Given the description of an element on the screen output the (x, y) to click on. 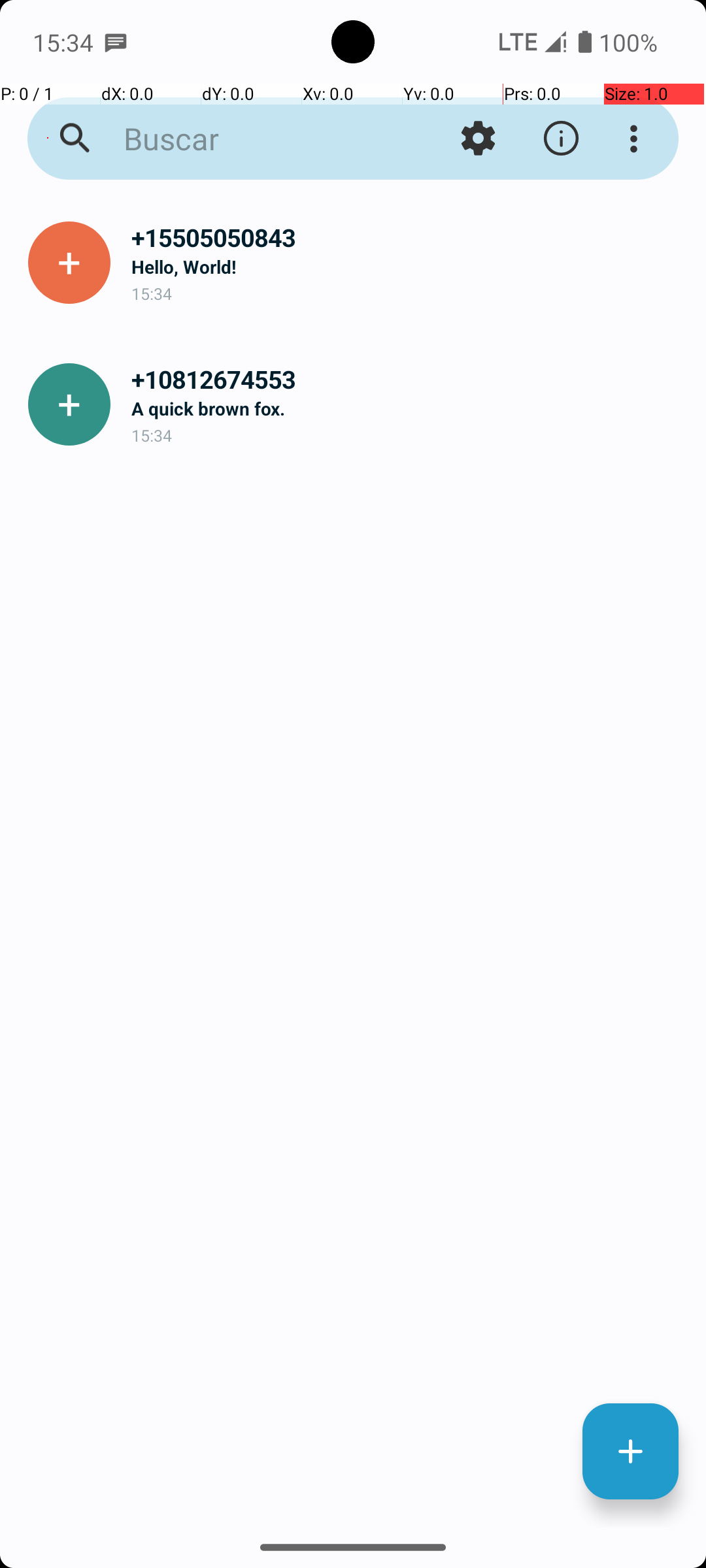
Acerca de Element type: android.widget.Button (560, 138)
+15505050843 Element type: android.widget.TextView (408, 237)
Hello, World! Element type: android.widget.TextView (408, 266)
+10812674553 Element type: android.widget.TextView (408, 378)
A quick brown fox. Element type: android.widget.TextView (408, 407)
